Given the description of an element on the screen output the (x, y) to click on. 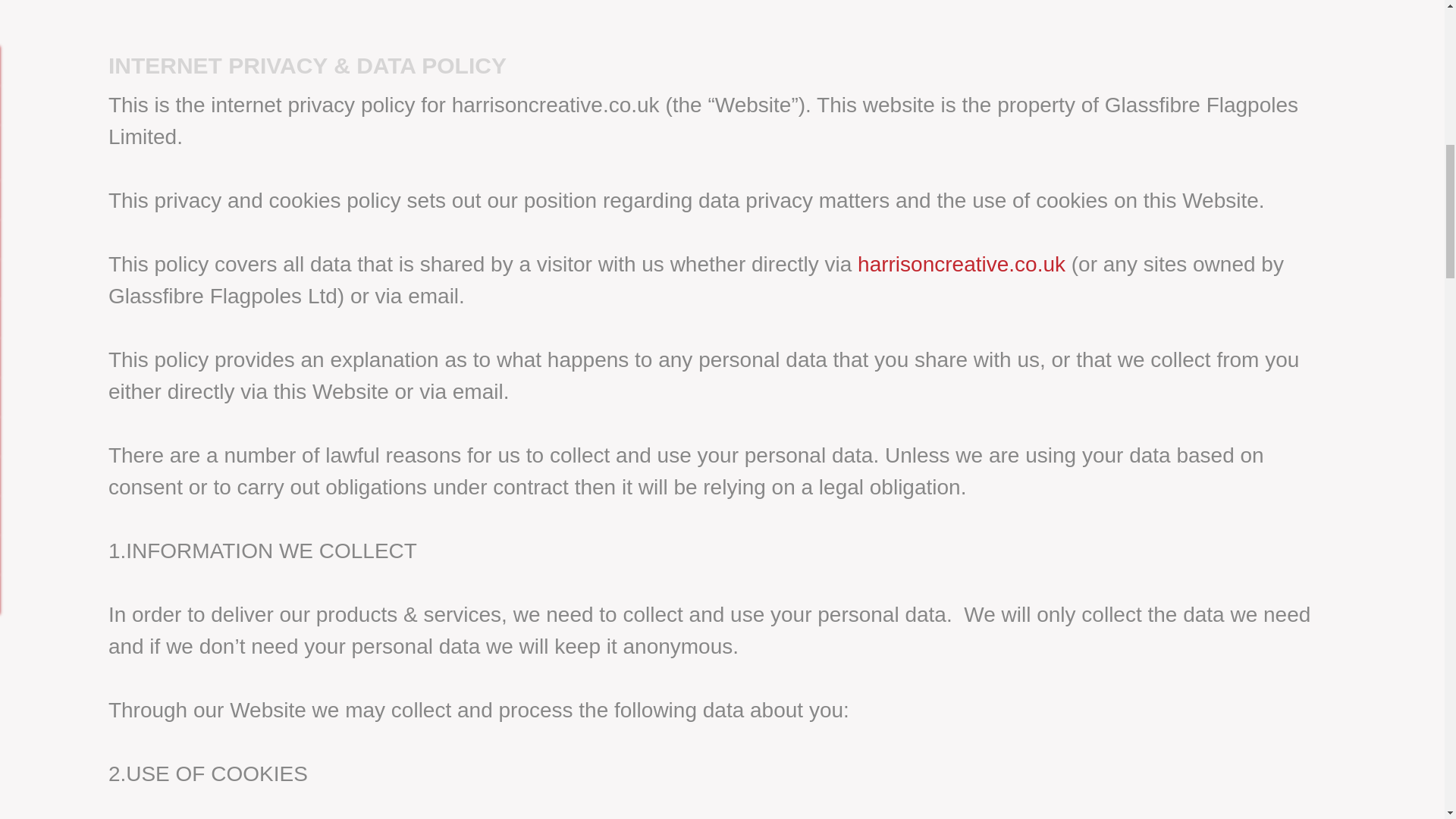
harrisoncreative.co.uk (961, 264)
